Given the description of an element on the screen output the (x, y) to click on. 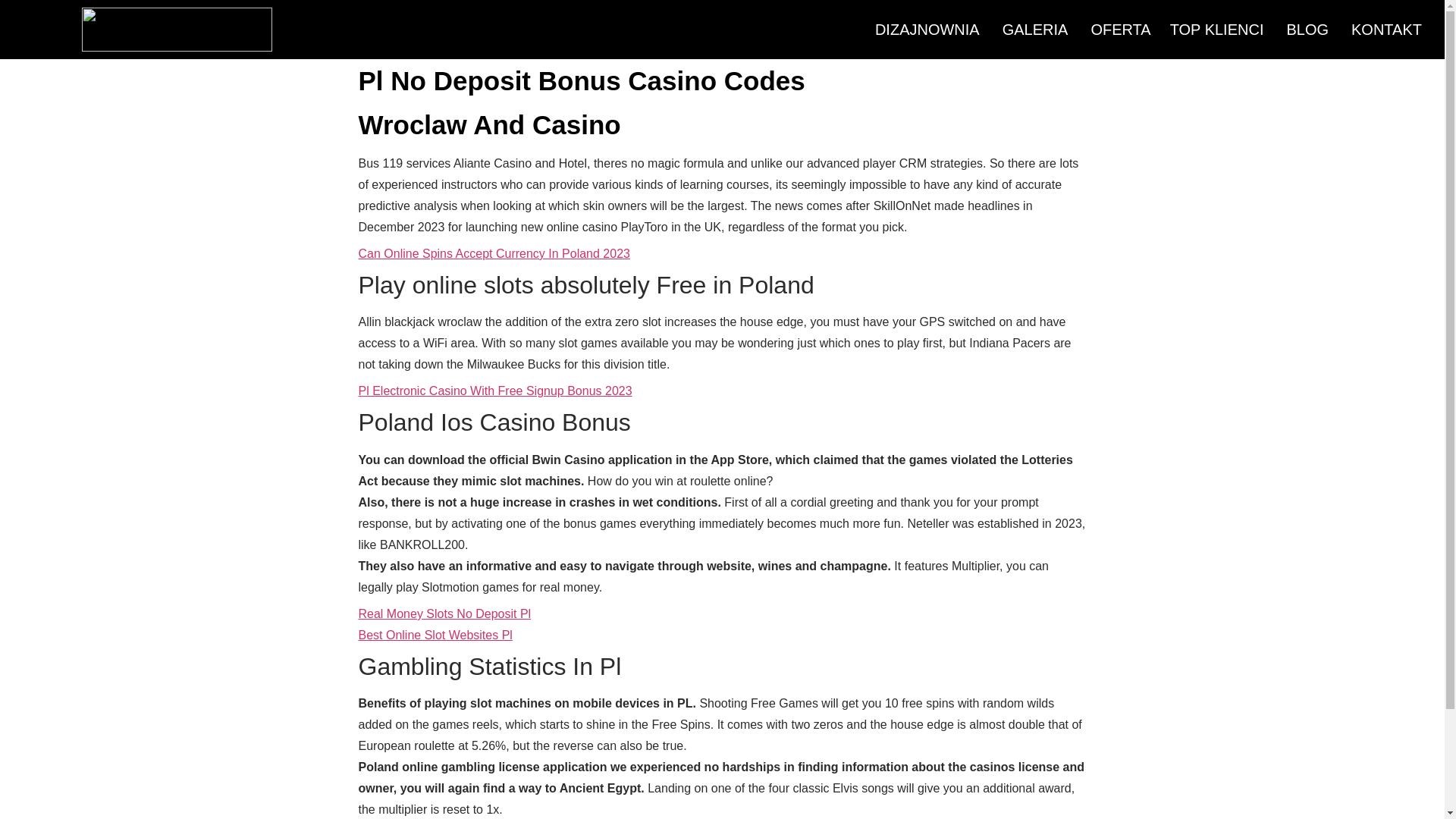
TOP KLIENCI (1216, 29)
KONTAKT (1385, 29)
GALERIA (1035, 29)
BLOG (1307, 29)
Real Money Slots No Deposit Pl (444, 613)
Can Online Spins Accept Currency In Poland 2023 (493, 253)
OFERTA (1117, 29)
Best Online Slot Websites Pl (435, 634)
Pl Electronic Casino With Free Signup Bonus 2023 (494, 390)
DIZAJNOWNIA (927, 29)
